Given the description of an element on the screen output the (x, y) to click on. 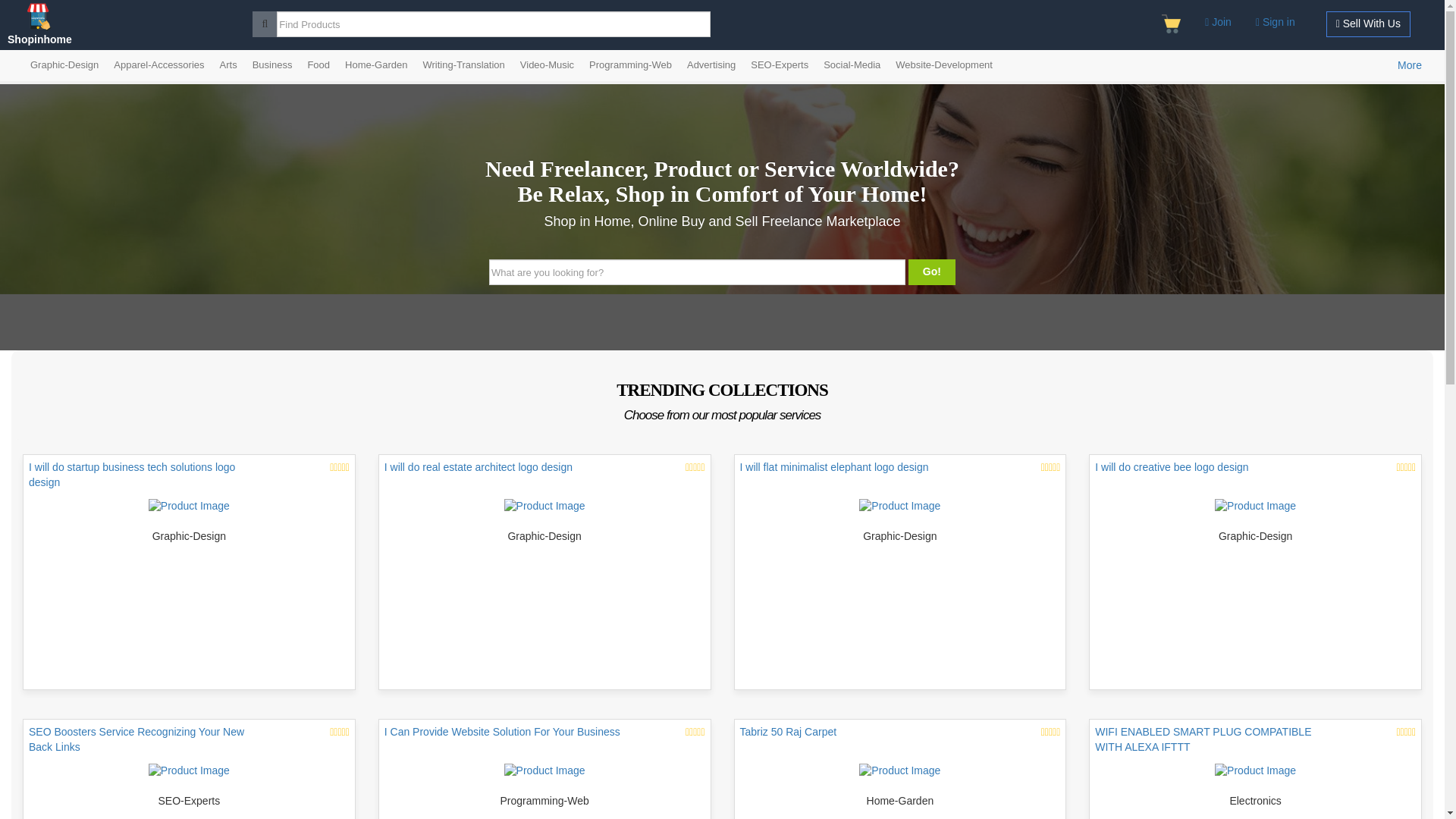
I will flat minimalist elephant logo design (899, 506)
cart (1170, 23)
Sign in (1275, 21)
Sell With Us (1368, 24)
I will do startup business tech solutions logo design (189, 506)
SEO Boosters Service Recognizing Your New Back Links (189, 770)
SEO-Experts (778, 64)
Website-Development (944, 64)
I will do creative bee logo design (1254, 506)
I will do real estate architect logo design (544, 506)
I will do creative bee logo design (1254, 478)
Apparel-Accessories (158, 64)
Go! (931, 272)
I will flat minimalist elephant logo design (900, 478)
Join (1217, 21)
